Given the description of an element on the screen output the (x, y) to click on. 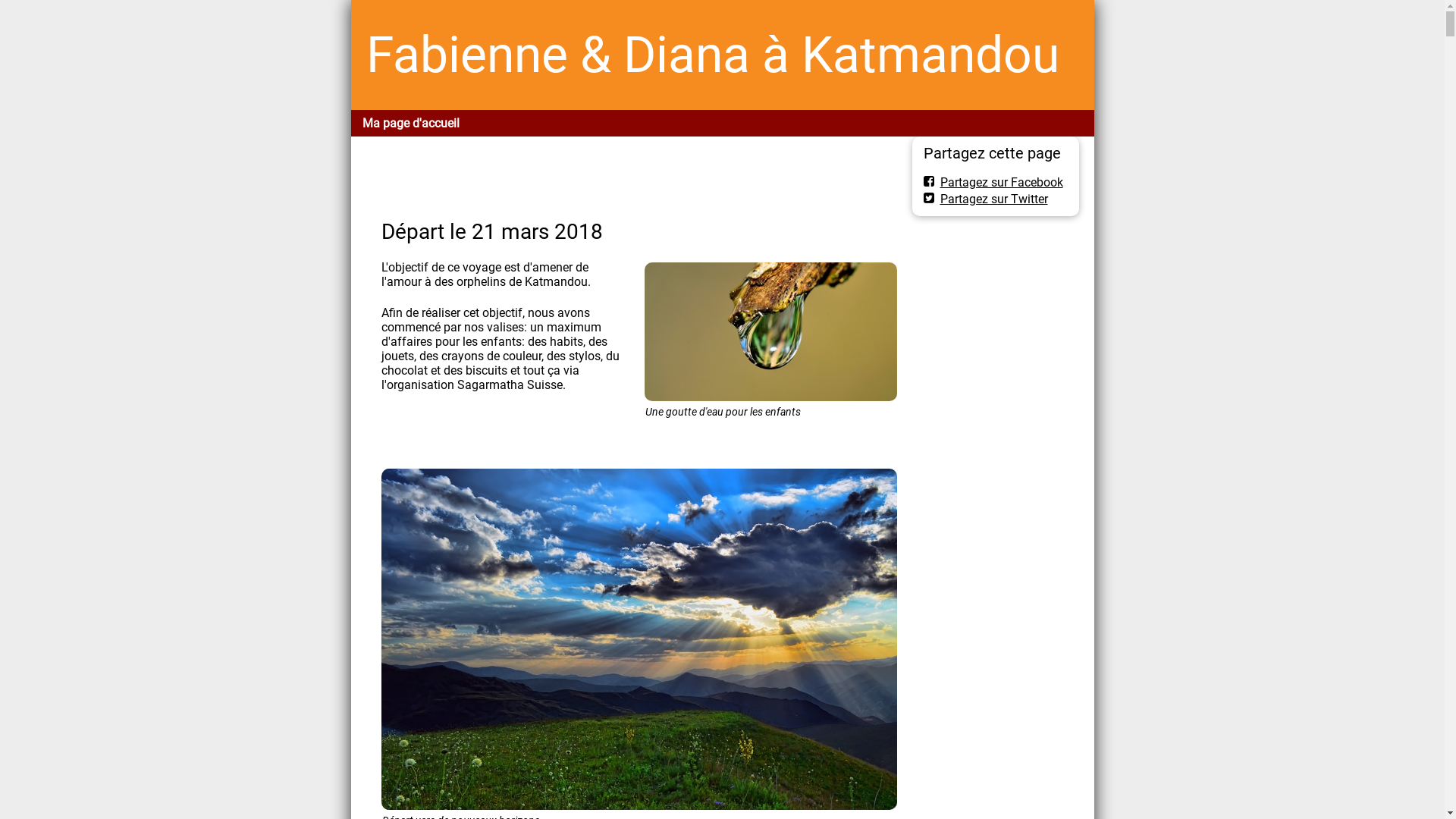
Partagez sur Twitter Element type: text (985, 198)
Ma page d'accueil Element type: text (410, 122)
Une goutte d'eau pour les enfants Element type: hover (770, 331)
Partagez sur Facebook Element type: text (993, 181)
